Given the description of an element on the screen output the (x, y) to click on. 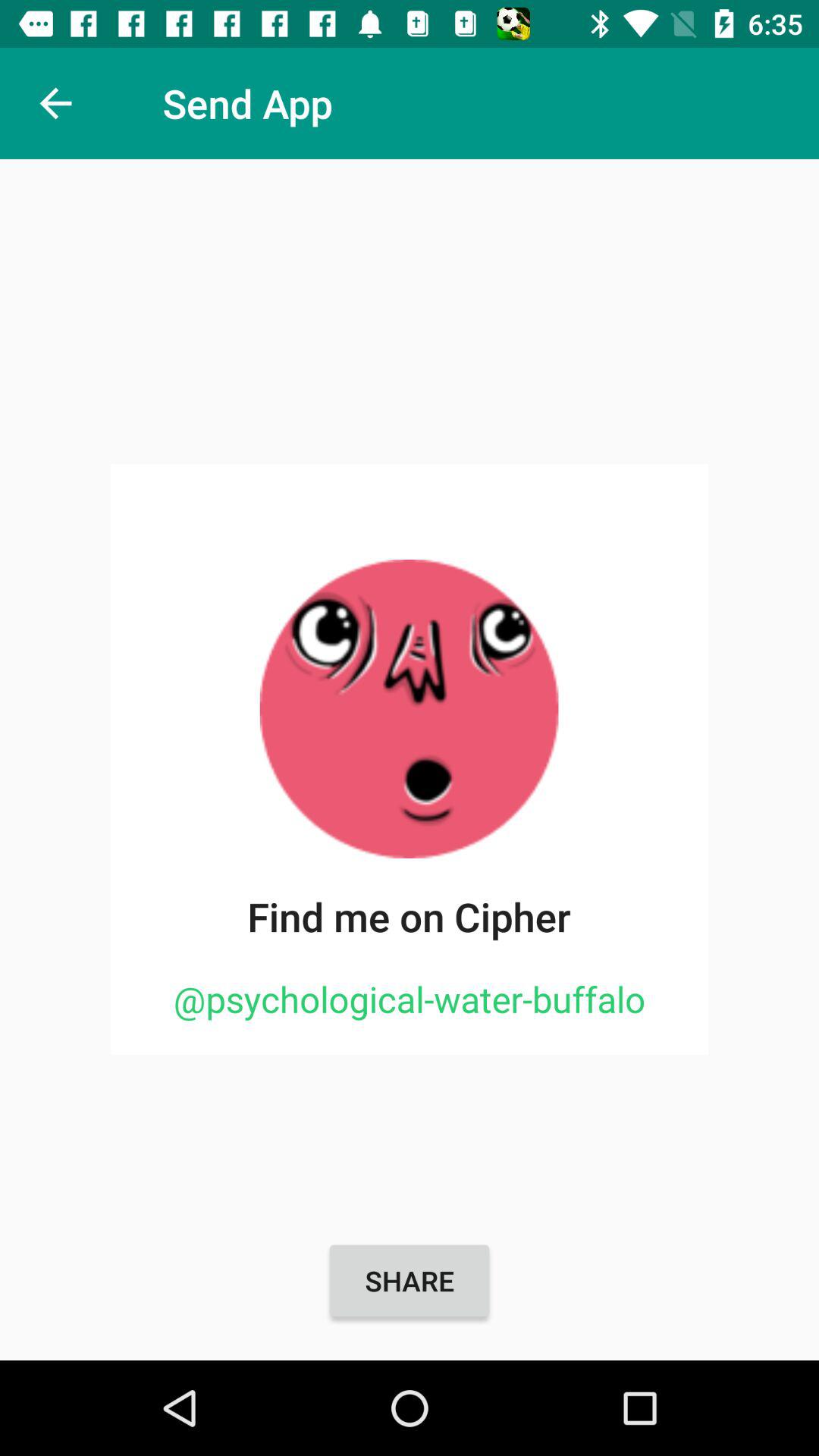
launch item next to the   send app icon (55, 103)
